Given the description of an element on the screen output the (x, y) to click on. 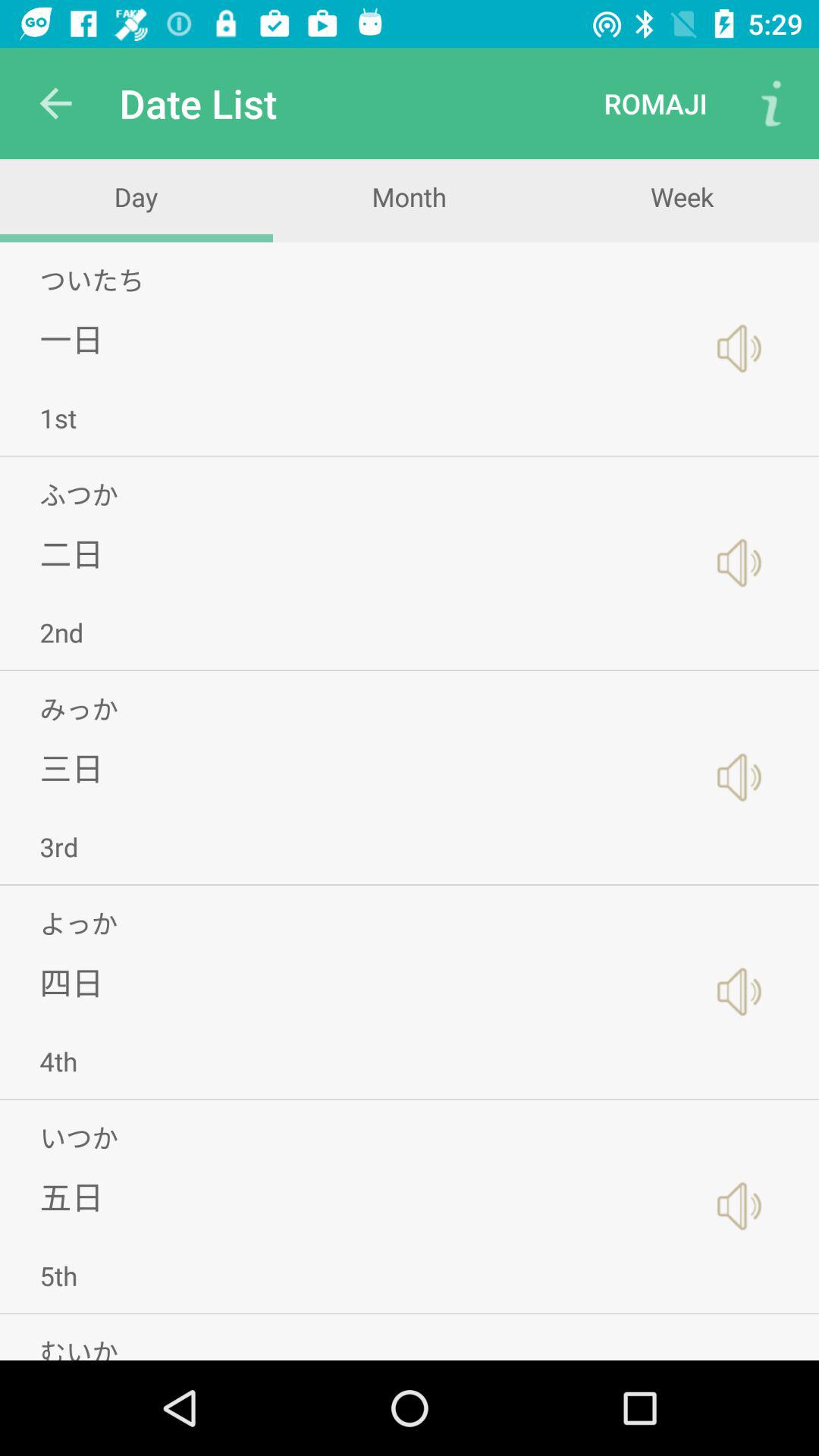
launch icon above 3rd icon (71, 767)
